Given the description of an element on the screen output the (x, y) to click on. 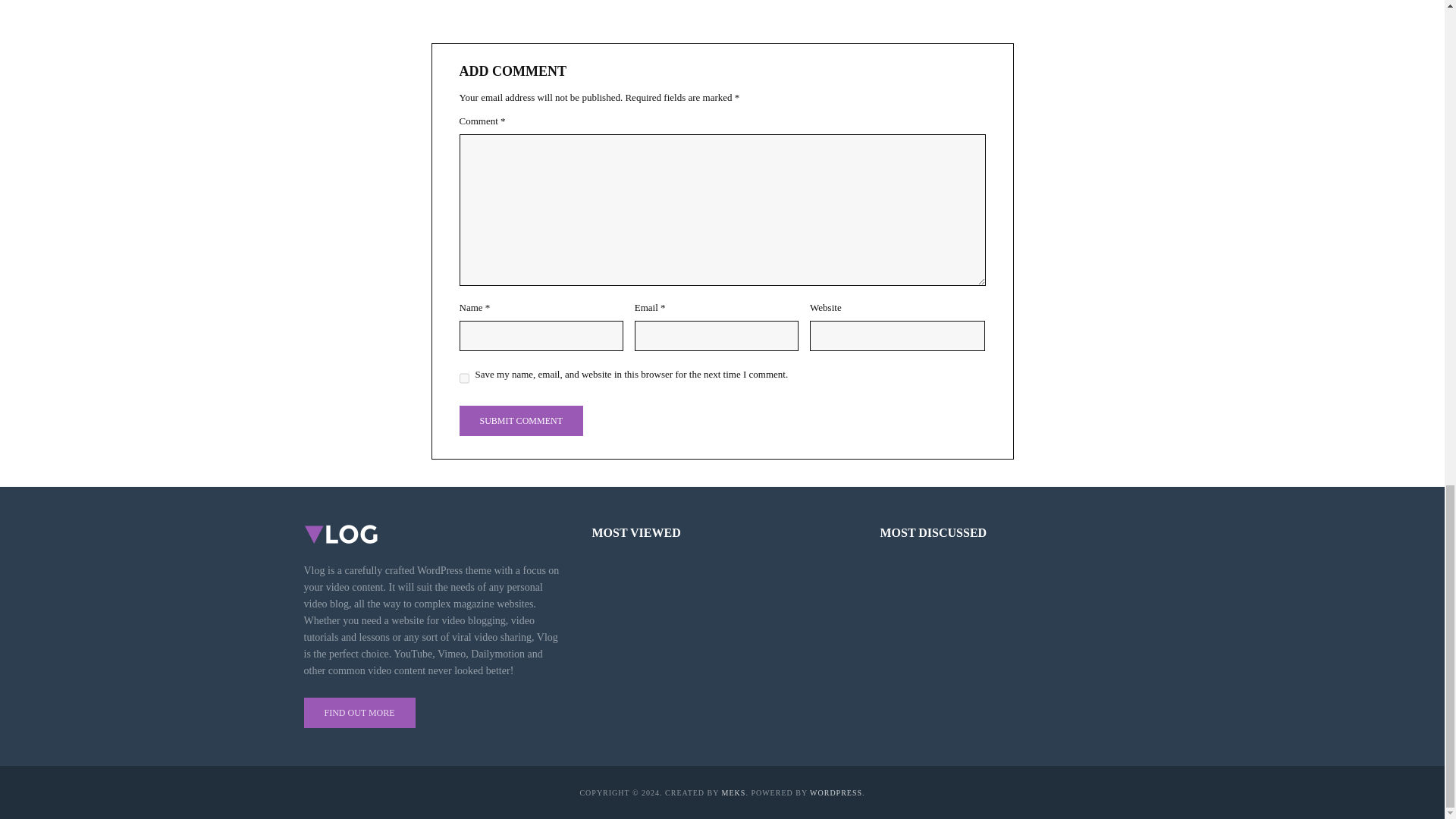
Submit Comment (521, 420)
